Given the description of an element on the screen output the (x, y) to click on. 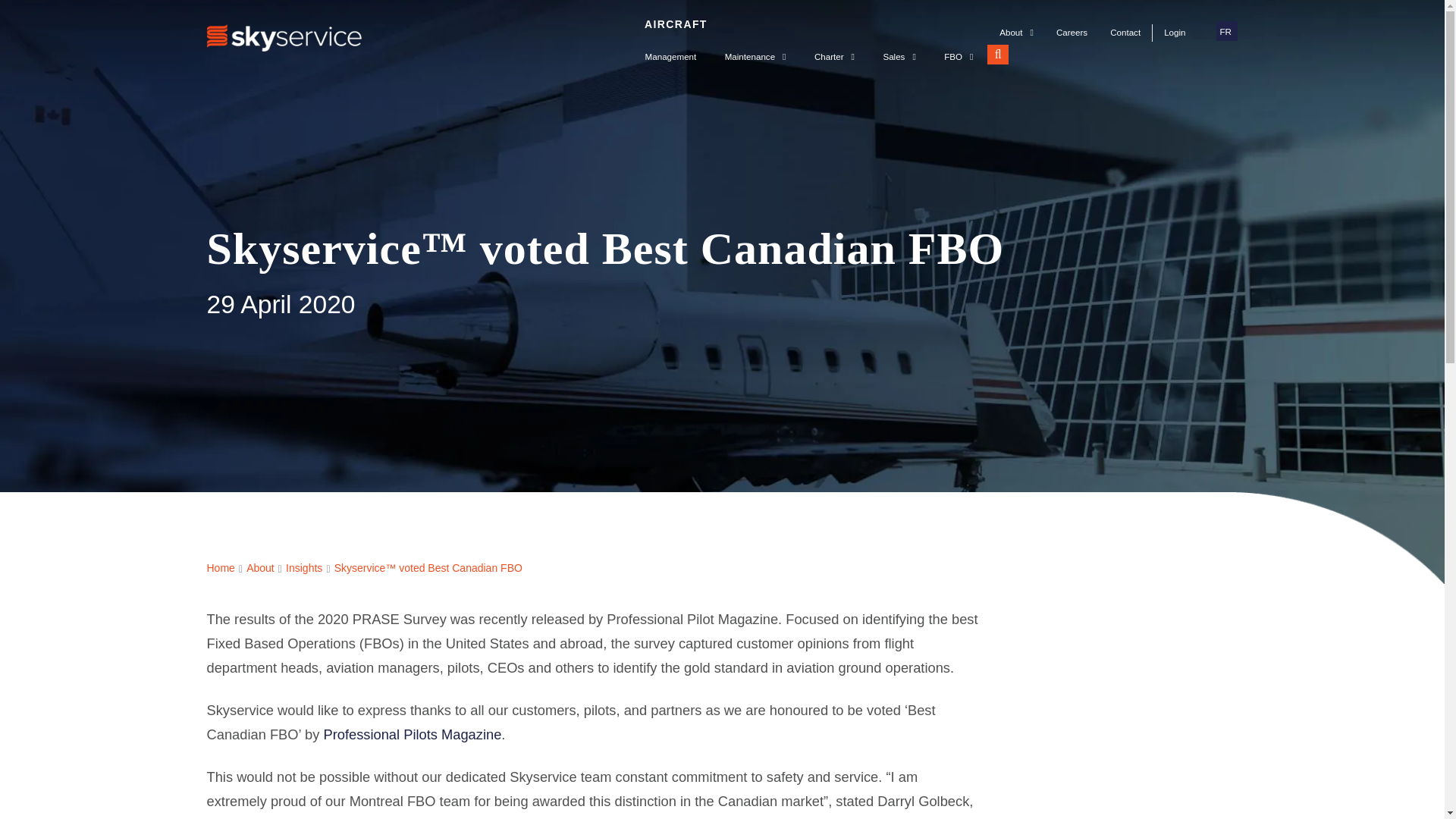
FBO (959, 51)
Maintenance (754, 51)
Charter (834, 51)
Sales (899, 51)
About (1015, 33)
Management (670, 51)
